Given the description of an element on the screen output the (x, y) to click on. 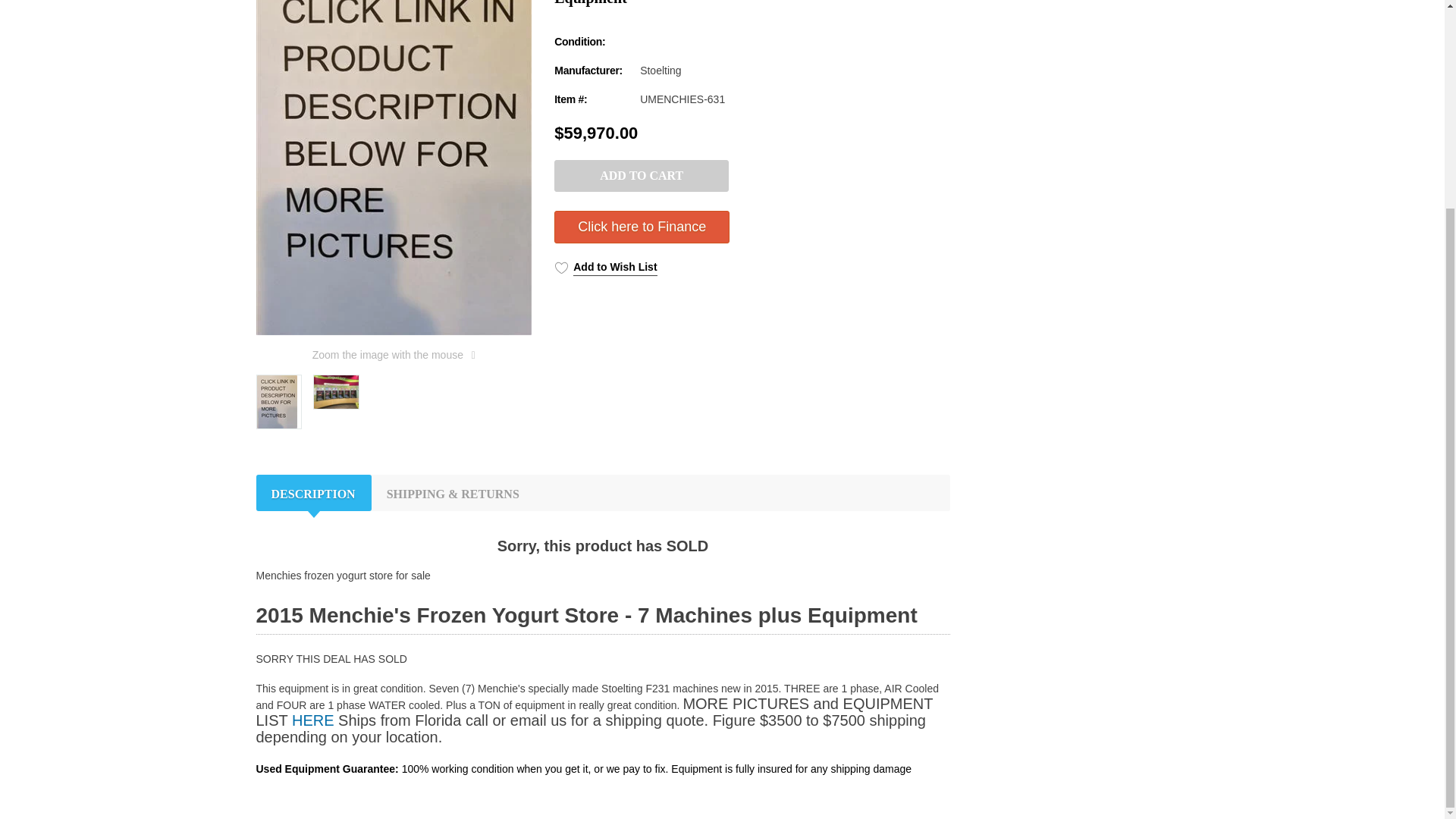
Stoelting (660, 70)
